Given the description of an element on the screen output the (x, y) to click on. 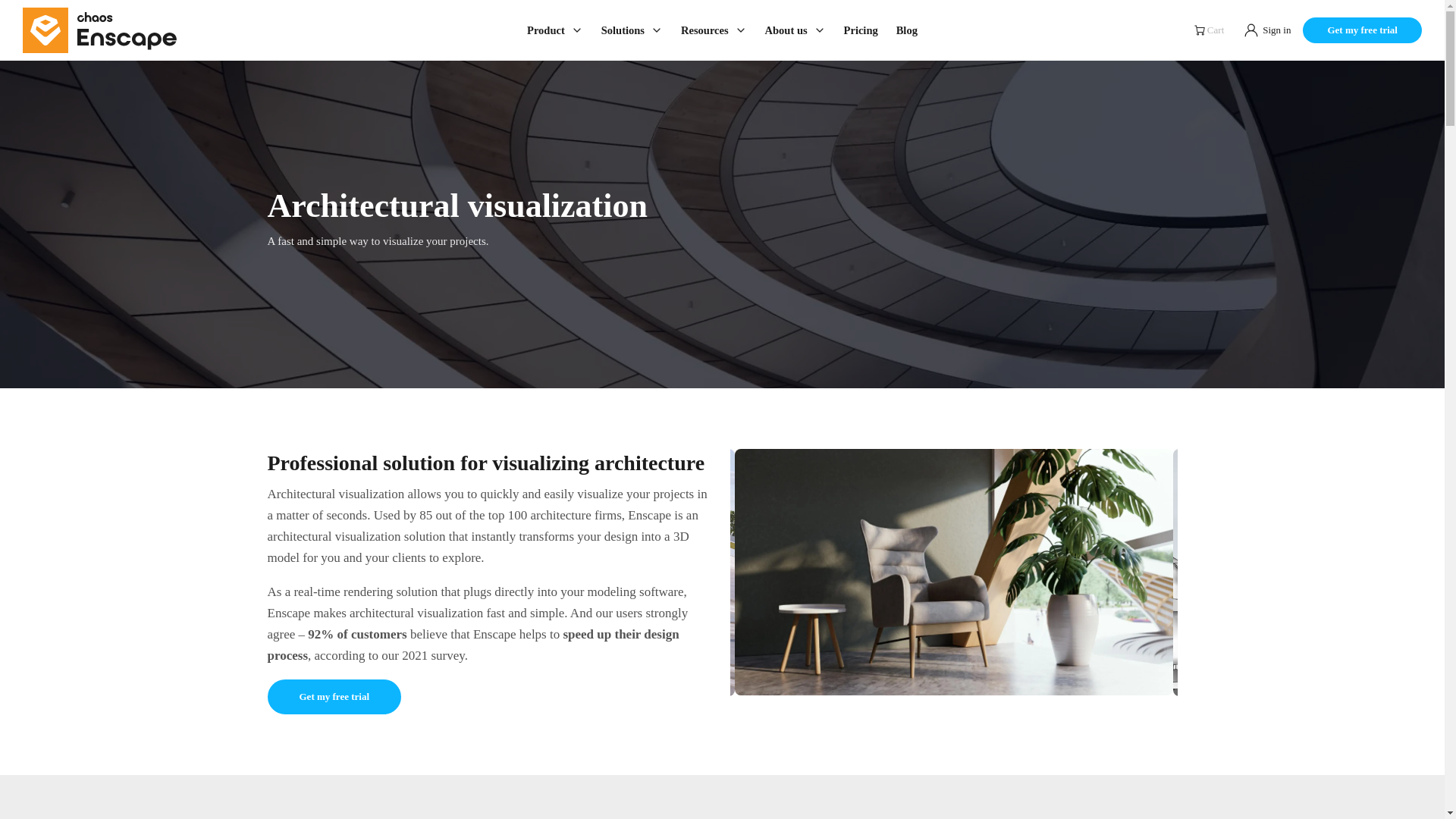
Cart (1210, 30)
Sign in (1265, 29)
Get my free trial (1362, 30)
Resources (713, 30)
About us (794, 30)
Get my free trial (333, 696)
Product (555, 30)
Solutions (631, 30)
Sign in (1265, 29)
